Given the description of an element on the screen output the (x, y) to click on. 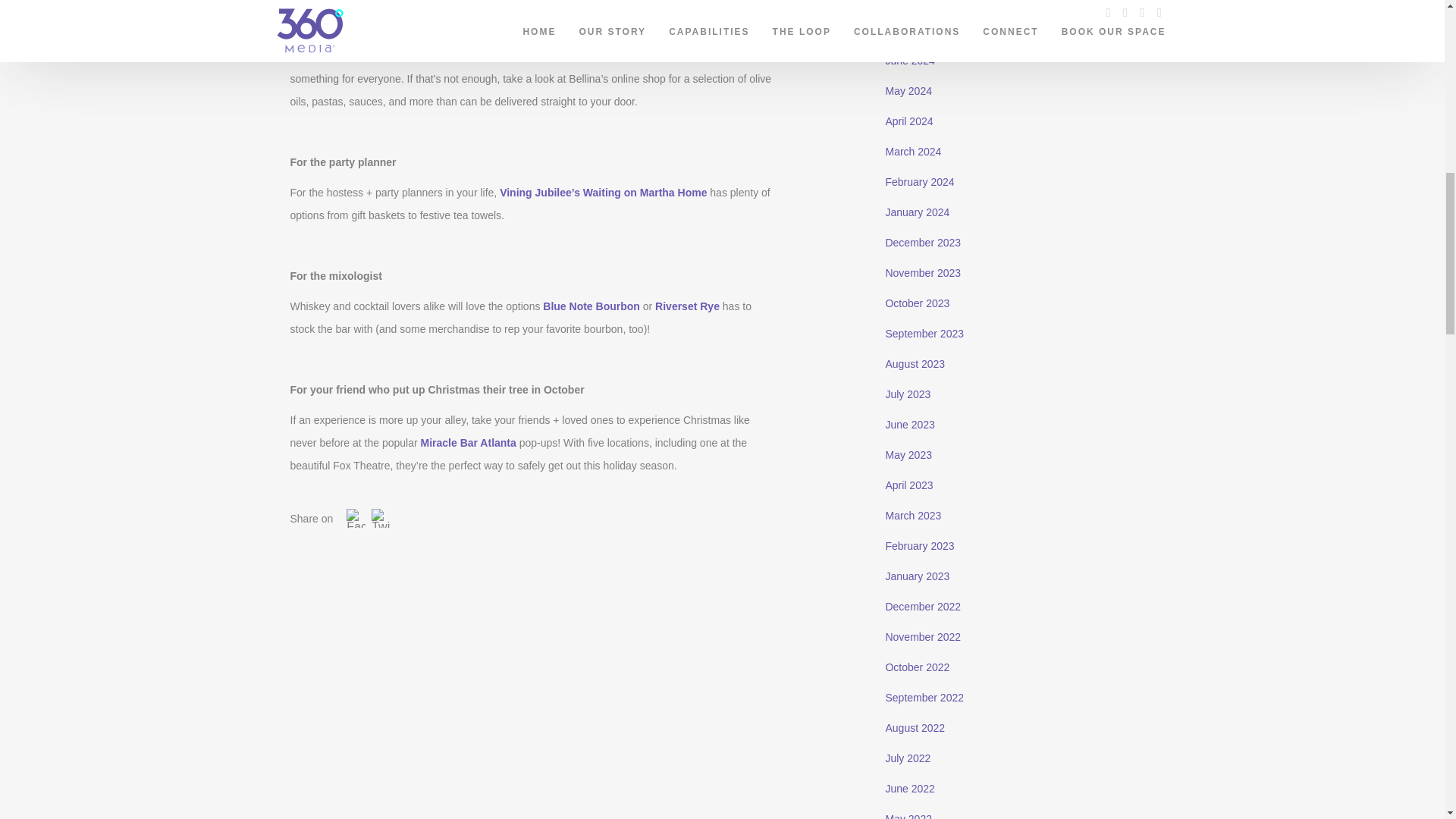
Miracle Bar Atlanta (468, 442)
Bellina Alimentari (333, 33)
Facebook (355, 518)
June 2024 (909, 60)
May 2024 (908, 91)
gift guide (561, 4)
Waiting on Martha Home (645, 192)
April 2024 (909, 121)
Blue Note Bourbon (591, 306)
Twitter (380, 518)
July 2024 (907, 30)
March 2024 (912, 151)
February 2024 (919, 182)
Riverset Rye (687, 306)
